Given the description of an element on the screen output the (x, y) to click on. 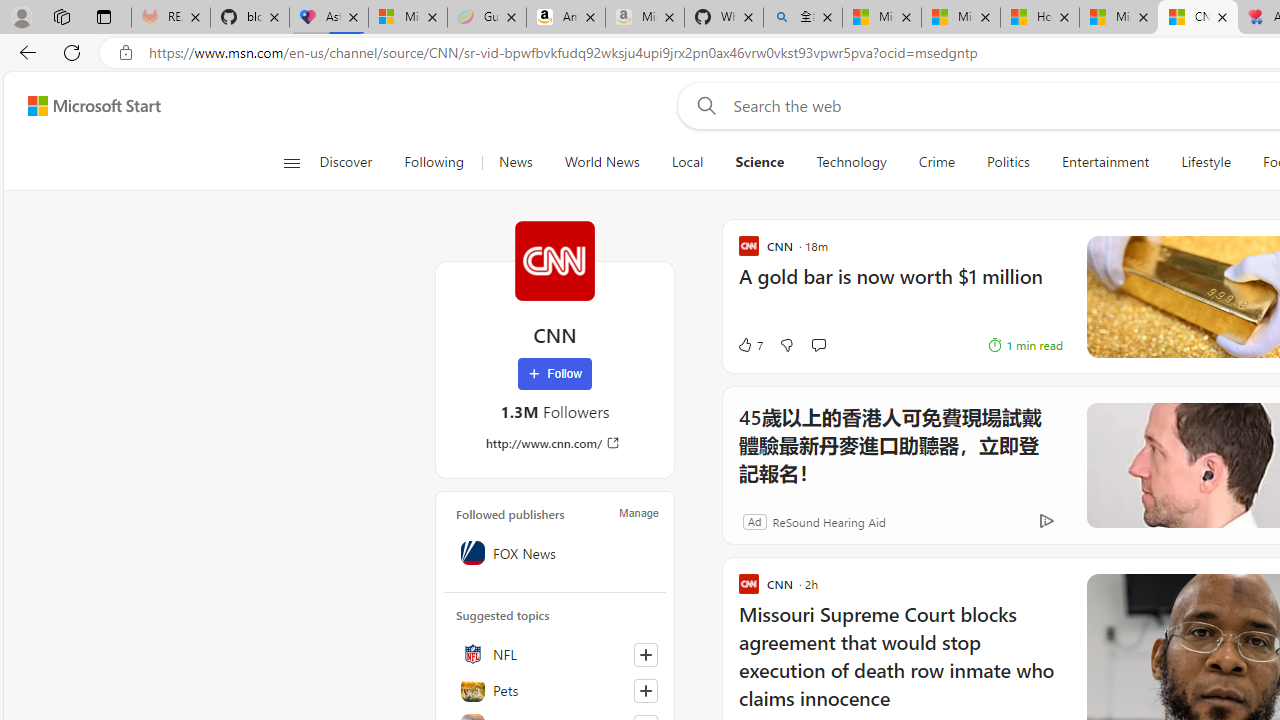
Open navigation menu (291, 162)
Web search (702, 105)
Start the conversation (818, 344)
NFL (555, 654)
Local (687, 162)
